Given the description of an element on the screen output the (x, y) to click on. 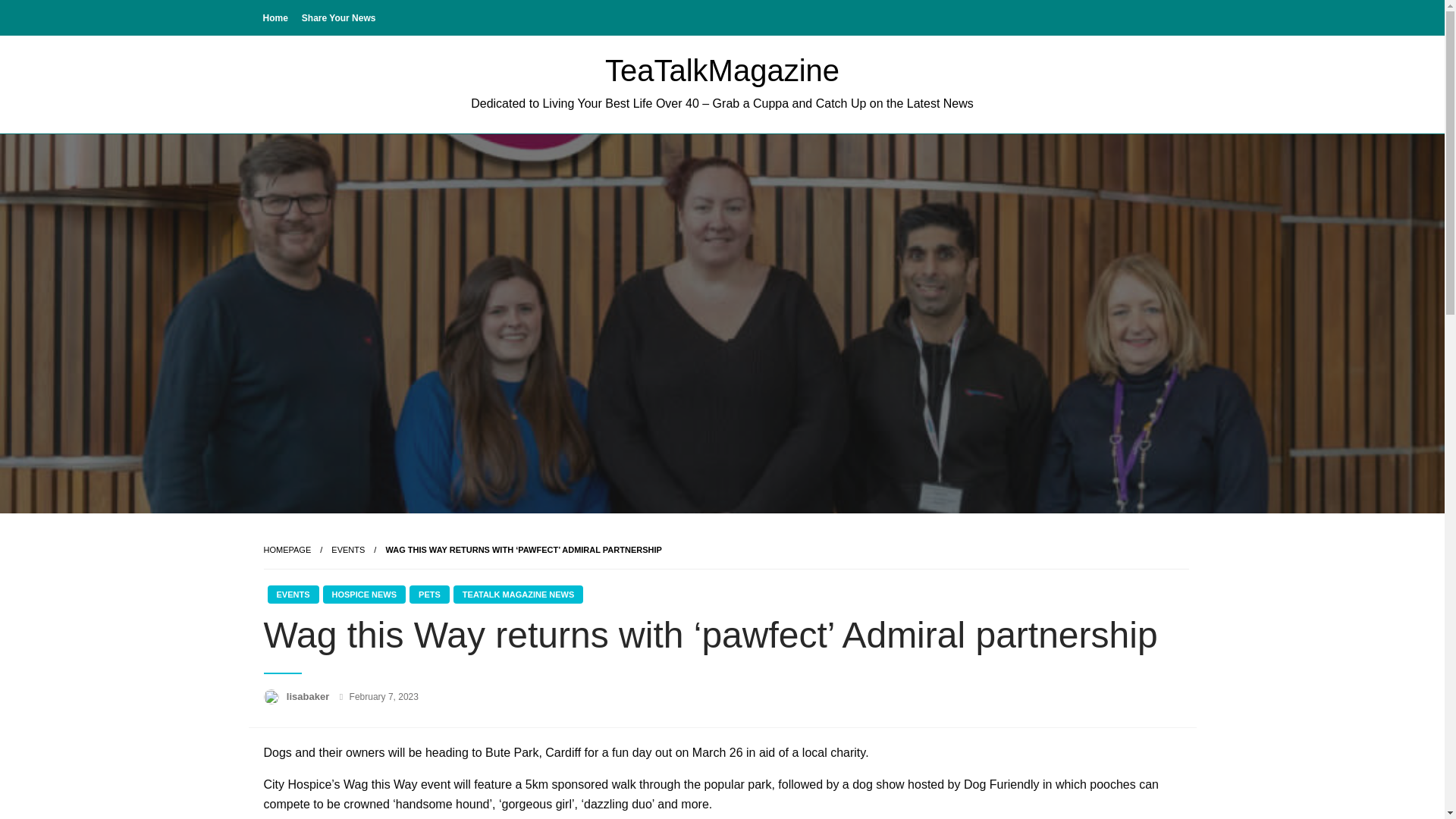
TeaTalkMagazine (722, 70)
Share Your News (338, 17)
Home (275, 17)
Events (348, 549)
lisabaker (308, 696)
Homepage (287, 549)
